Given the description of an element on the screen output the (x, y) to click on. 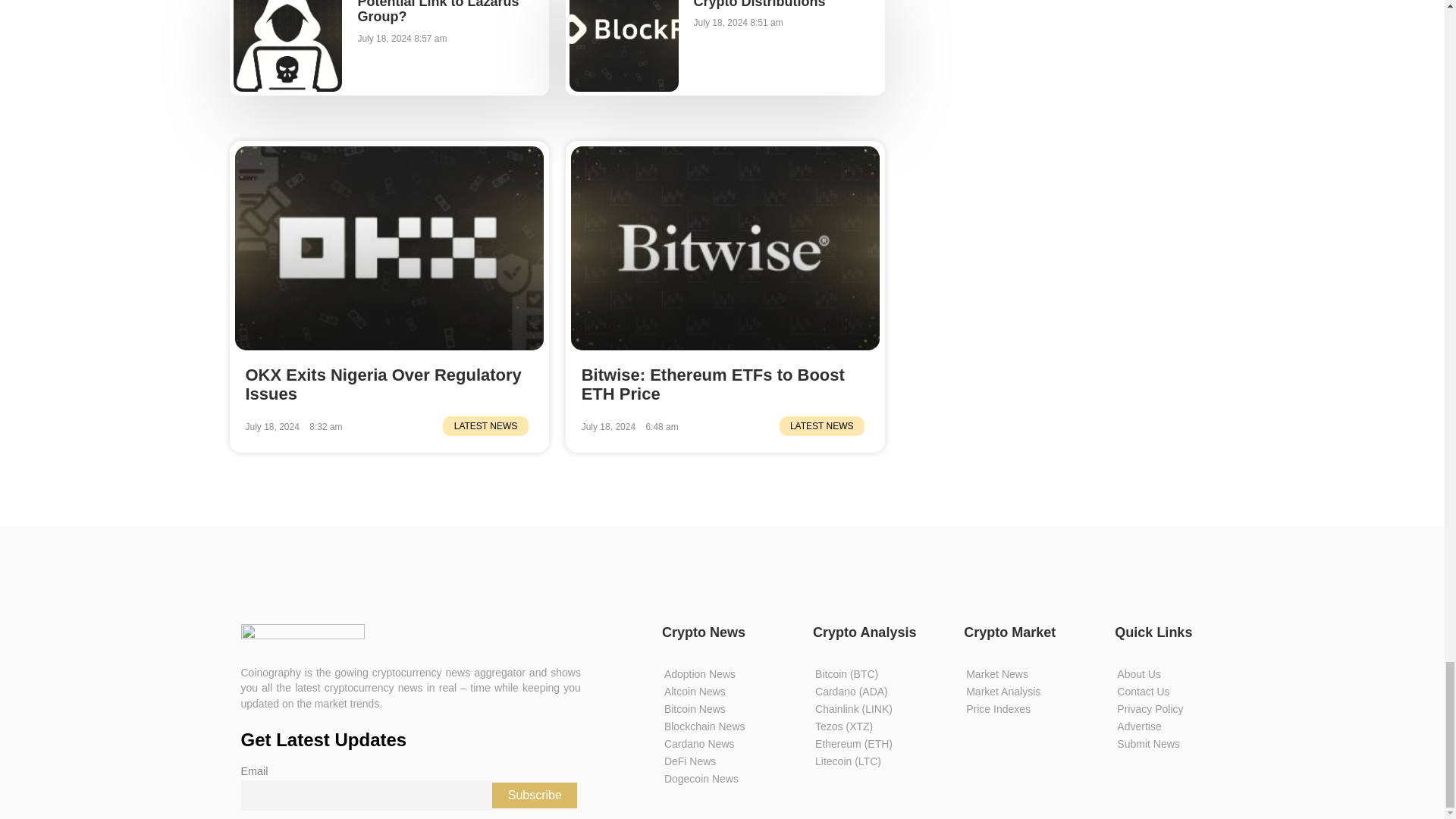
Subscribe (534, 795)
